Given the description of an element on the screen output the (x, y) to click on. 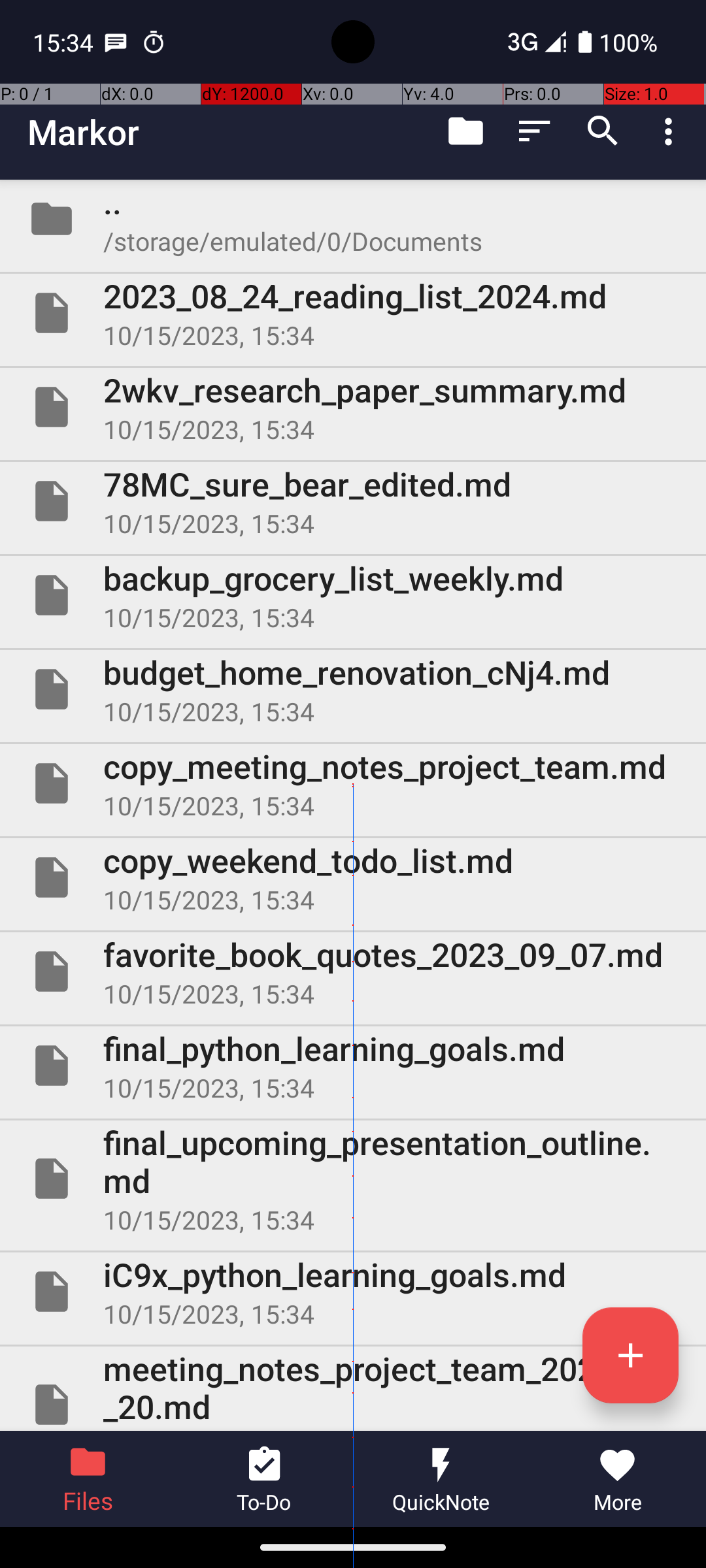
File 2023_08_24_reading_list_2024.md  Element type: android.widget.LinearLayout (353, 312)
File 2wkv_research_paper_summary.md  Element type: android.widget.LinearLayout (353, 406)
File 78MC_sure_bear_edited.md  Element type: android.widget.LinearLayout (353, 500)
File backup_grocery_list_weekly.md  Element type: android.widget.LinearLayout (353, 594)
File budget_home_renovation_cNj4.md  Element type: android.widget.LinearLayout (353, 689)
File copy_meeting_notes_project_team.md  Element type: android.widget.LinearLayout (353, 783)
File copy_weekend_todo_list.md  Element type: android.widget.LinearLayout (353, 877)
File favorite_book_quotes_2023_09_07.md  Element type: android.widget.LinearLayout (353, 971)
File final_python_learning_goals.md  Element type: android.widget.LinearLayout (353, 1065)
File final_upcoming_presentation_outline.md  Element type: android.widget.LinearLayout (353, 1178)
File iC9x_python_learning_goals.md  Element type: android.widget.LinearLayout (353, 1291)
File meeting_notes_project_team_2023_03_20.md  Element type: android.widget.LinearLayout (353, 1388)
